Given the description of an element on the screen output the (x, y) to click on. 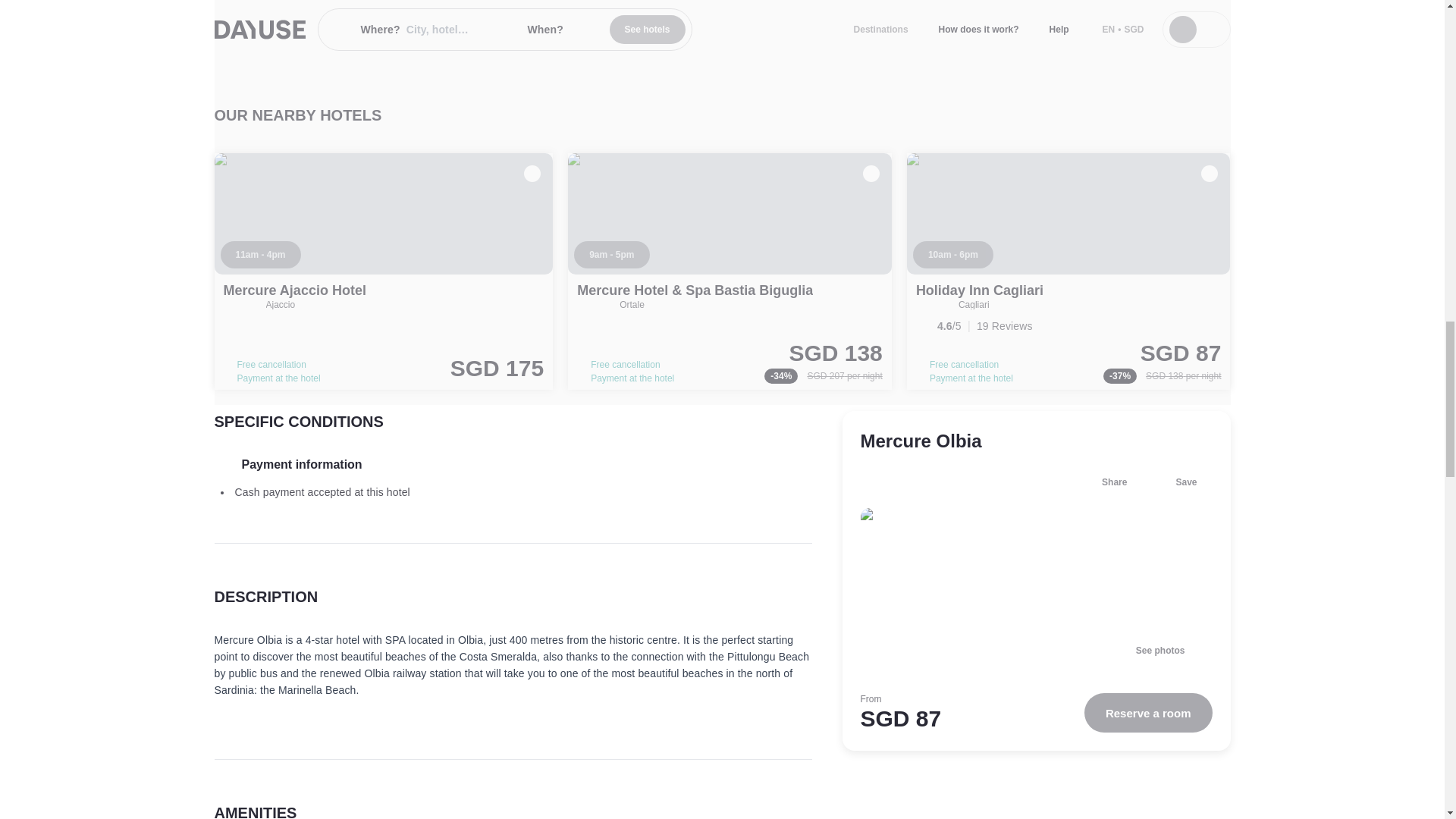
Mercure Ajaccio Hotel (293, 290)
Mercure Ajaccio Hotel (293, 290)
11am - 4pm (259, 254)
9am - 5pm (611, 254)
Mercure Ajaccio Hotel (383, 271)
Holiday Inn Cagliari (979, 290)
Holiday Inn Cagliari (1068, 271)
